Given the description of an element on the screen output the (x, y) to click on. 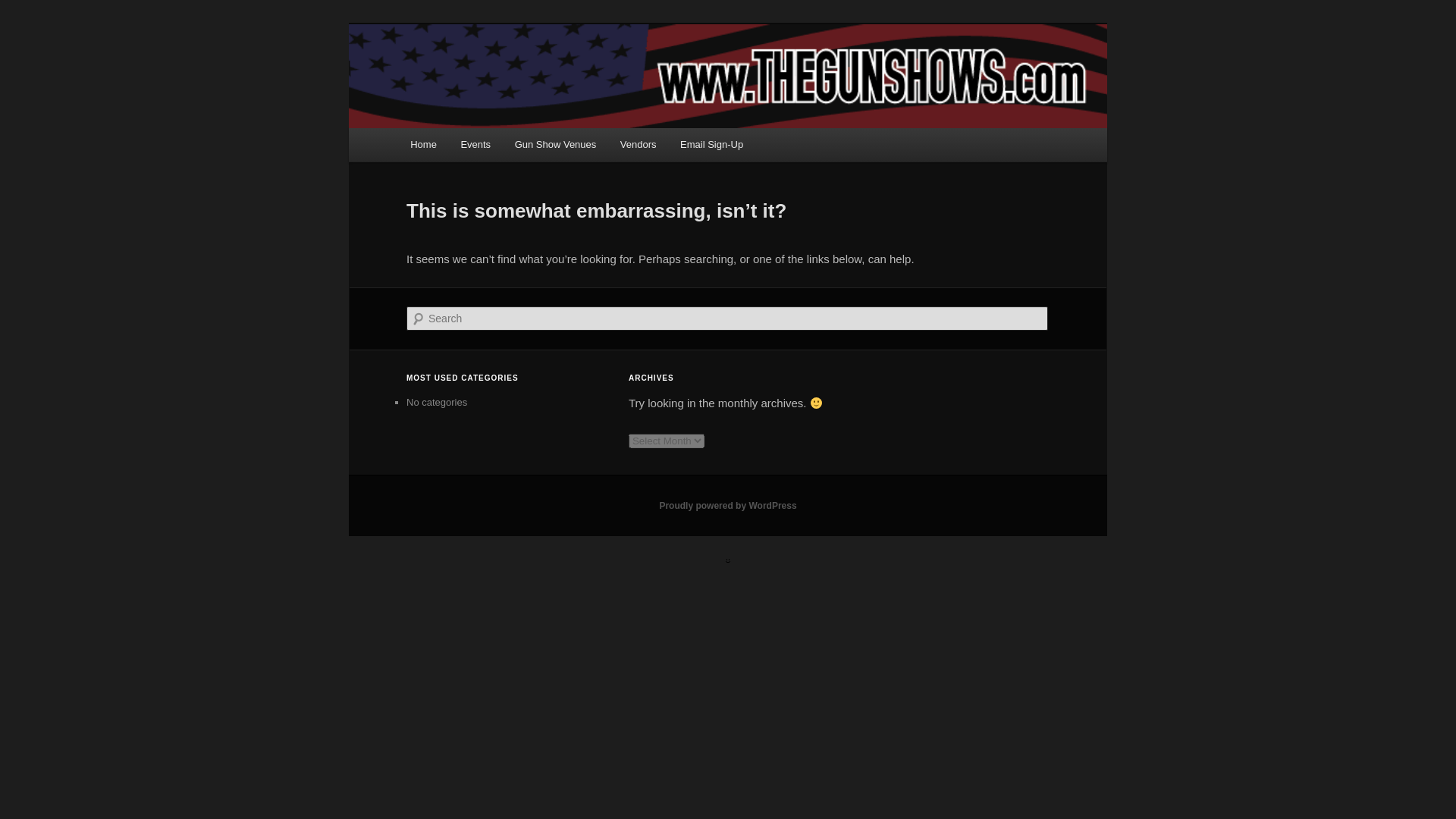
Email Sign-Up (711, 143)
Events (475, 143)
Appalachian Promotions (540, 78)
Vendors (638, 143)
Search (24, 8)
Home (422, 143)
Semantic Personal Publishing Platform (727, 505)
Events (475, 143)
Gun Show Venues (555, 143)
Proudly powered by WordPress (727, 505)
